Given the description of an element on the screen output the (x, y) to click on. 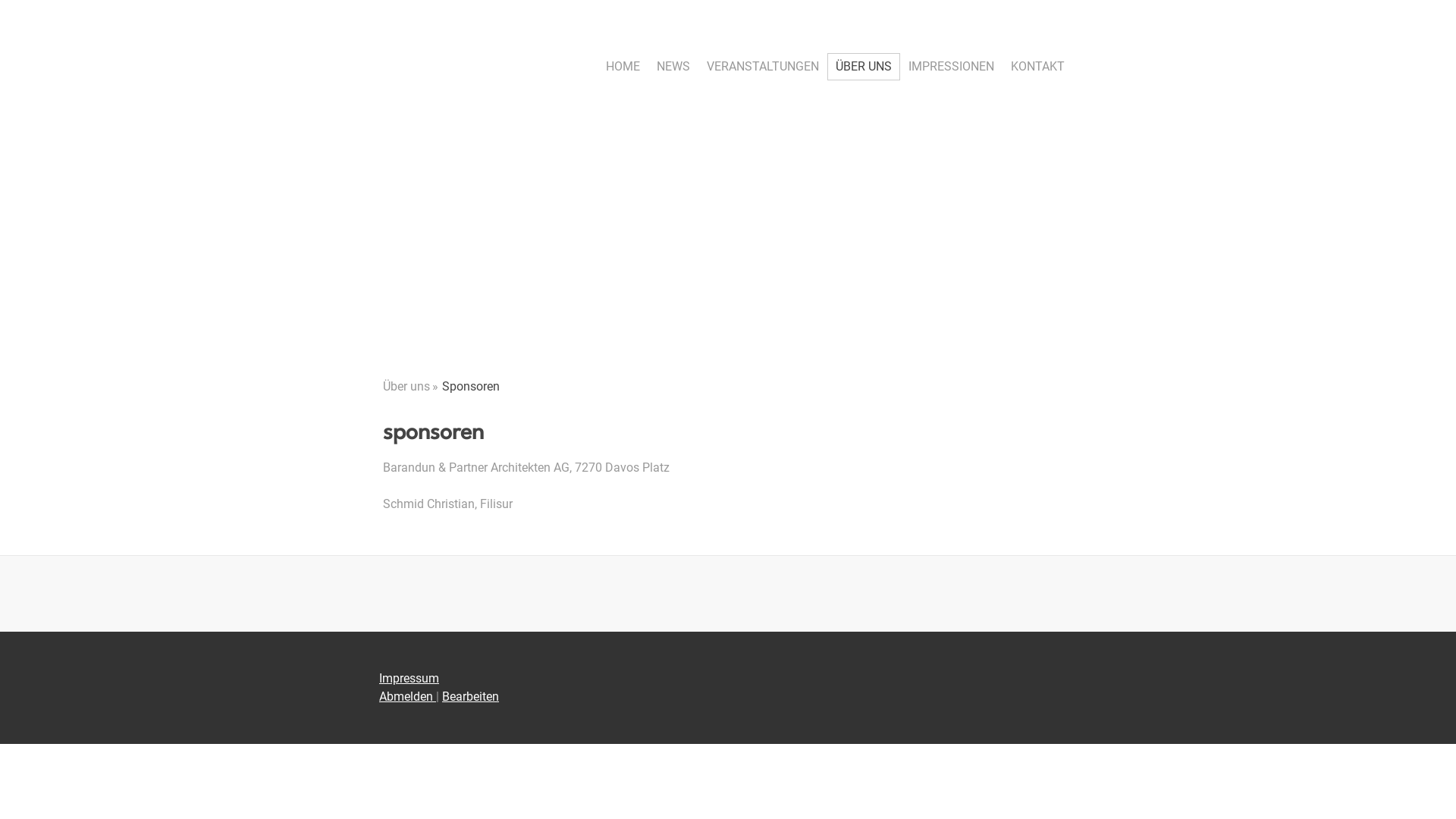
Abmelden Element type: text (407, 696)
KONTAKT Element type: text (1037, 66)
NEWS Element type: text (673, 66)
IMPRESSIONEN Element type: text (951, 66)
Bearbeiten Element type: text (470, 696)
Impressum Element type: text (409, 678)
VERANSTALTUNGEN Element type: text (762, 66)
HOME Element type: text (622, 66)
Sponsoren Element type: text (473, 386)
